Given the description of an element on the screen output the (x, y) to click on. 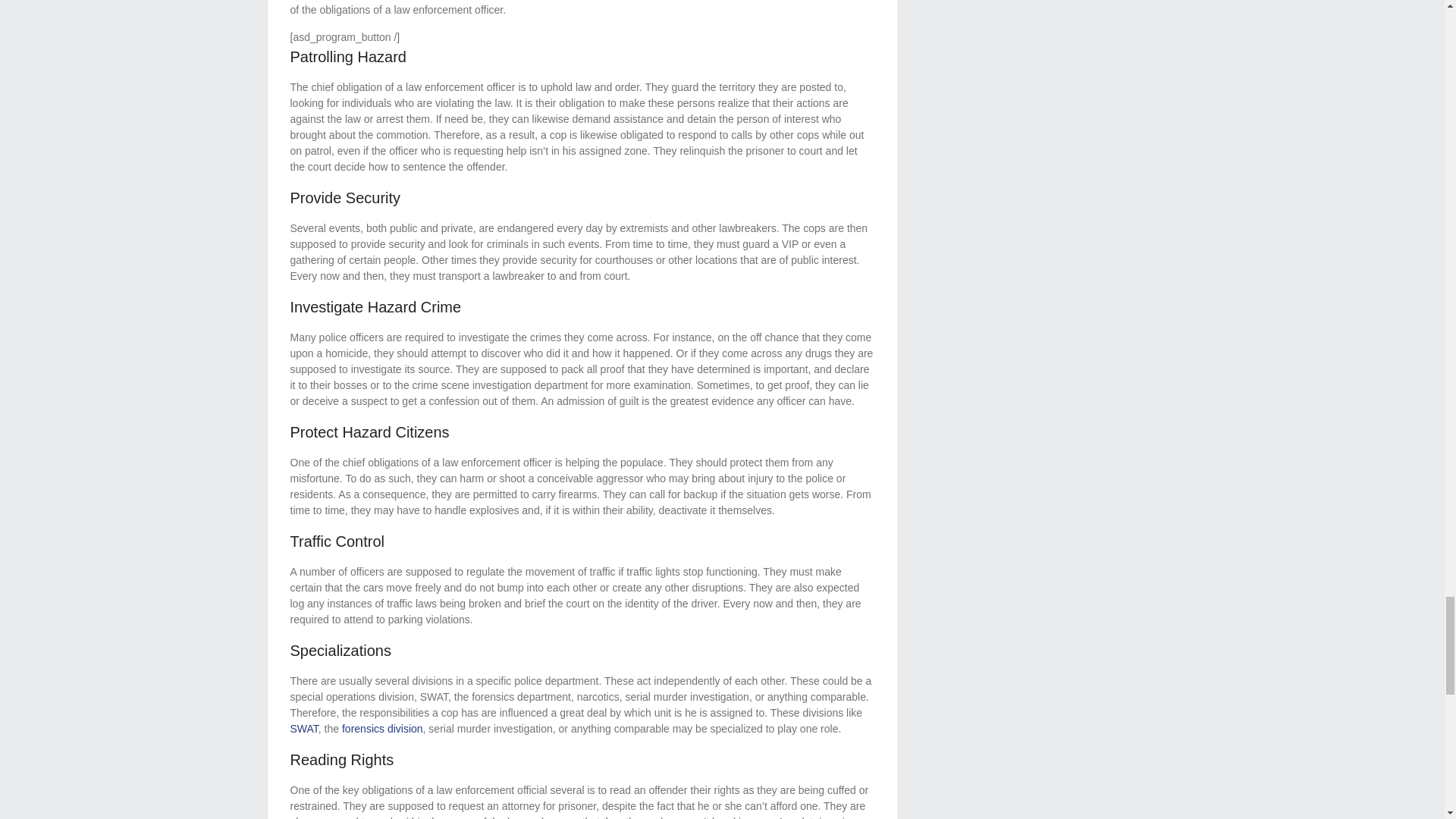
SWAT (303, 728)
